Given the description of an element on the screen output the (x, y) to click on. 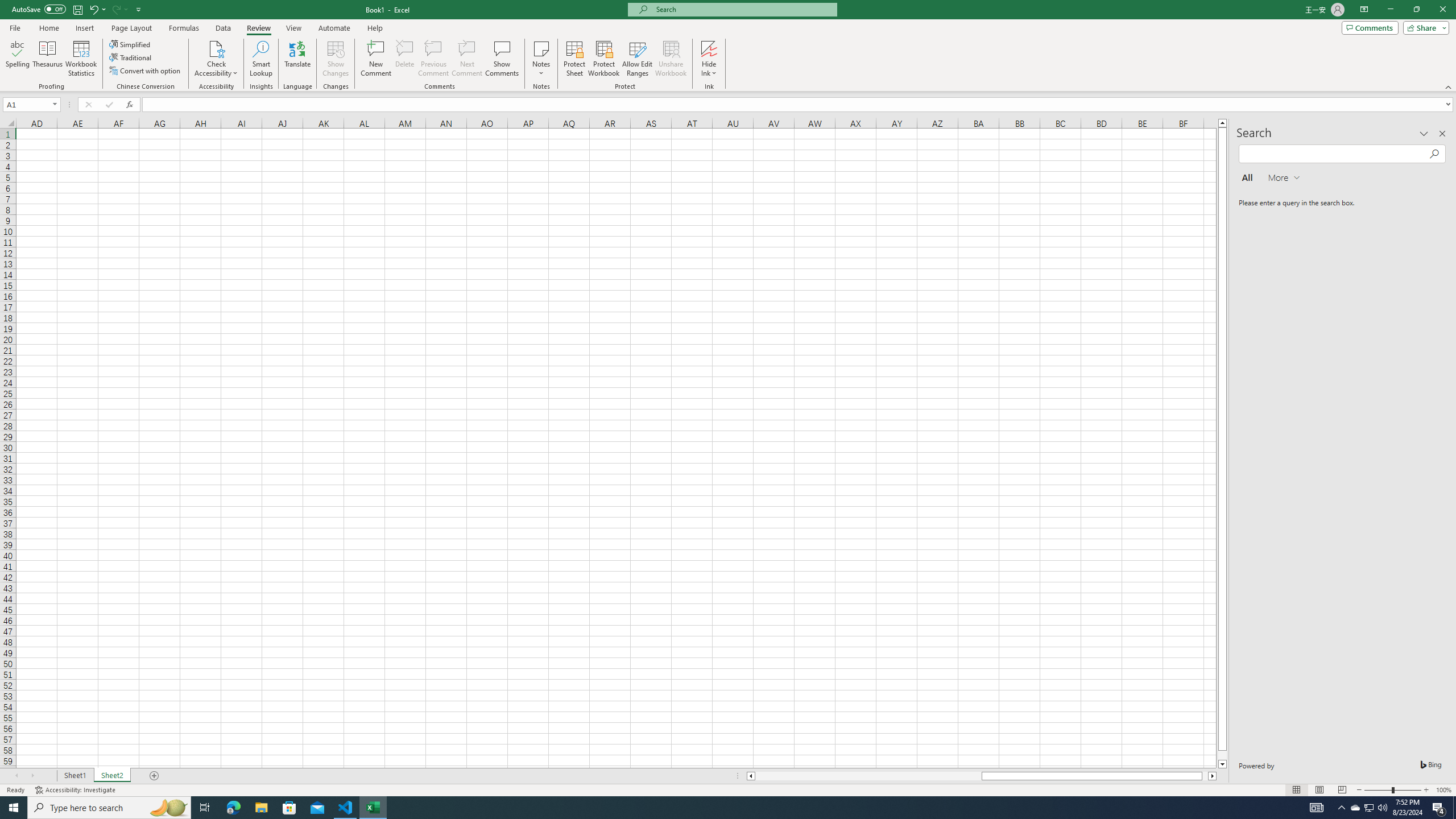
New Comment (376, 58)
Show Changes (335, 58)
Previous Comment (432, 58)
Spelling... (17, 58)
Workbook Statistics (81, 58)
Unshare Workbook (670, 58)
